Given the description of an element on the screen output the (x, y) to click on. 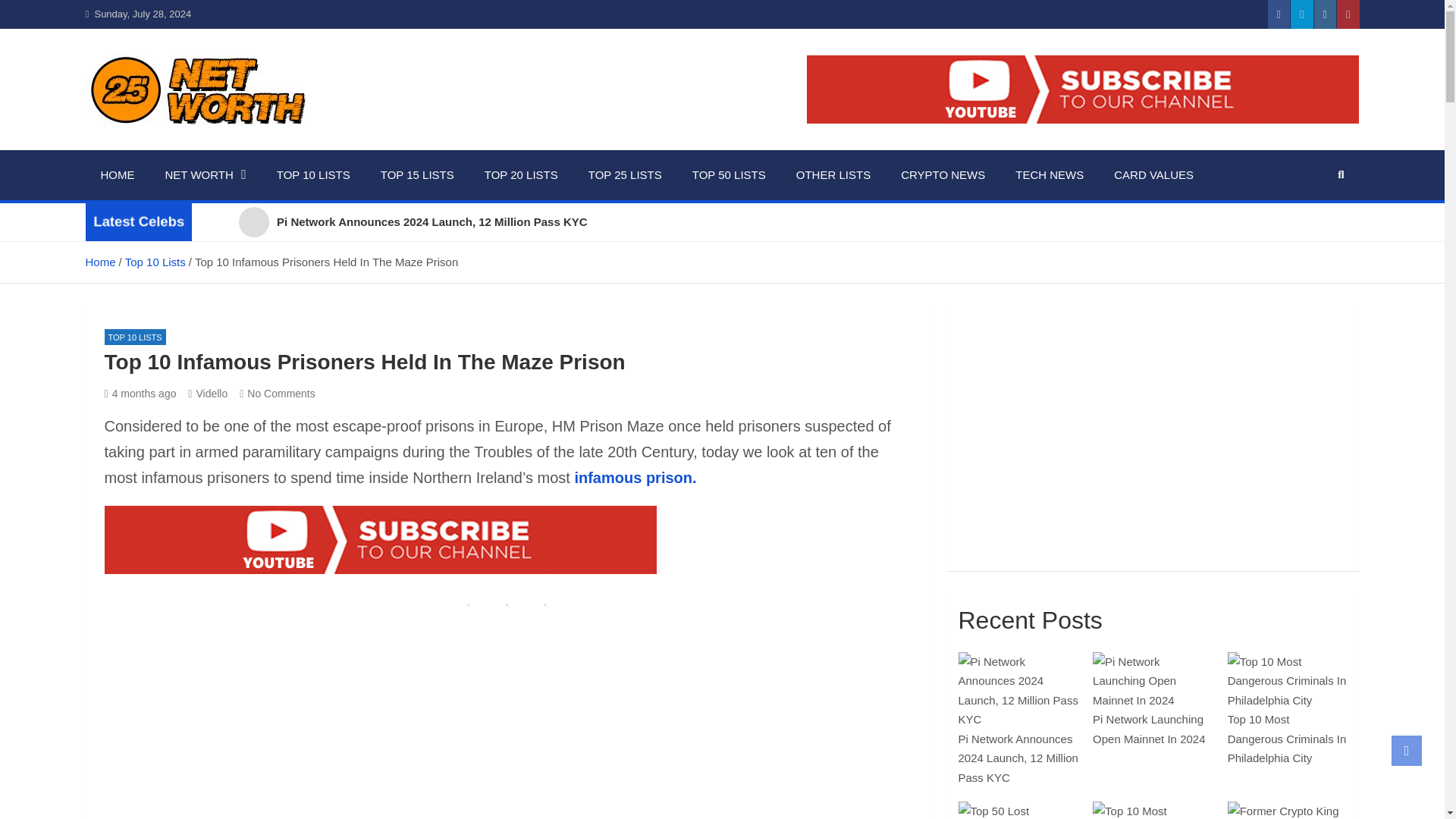
TOP 15 LISTS (416, 174)
Top 10 Infamous Prisoners Held In The Maze Prison (140, 393)
Top 10 Lists (155, 261)
CRYPTO NEWS (942, 174)
Pi Network Announces 2024 Launch, 12 Million Pass KYC (779, 221)
Home (99, 261)
CARD VALUES (1153, 174)
TECH NEWS (1049, 174)
NET WORTH (205, 174)
TOP 25 LISTS (625, 174)
TOP 50 LISTS (728, 174)
TOP 10 LISTS (313, 174)
Net Worth 25 (177, 146)
Top 50 Most Dangerous Serial Killers To Ever Exist (1153, 427)
